Given the description of an element on the screen output the (x, y) to click on. 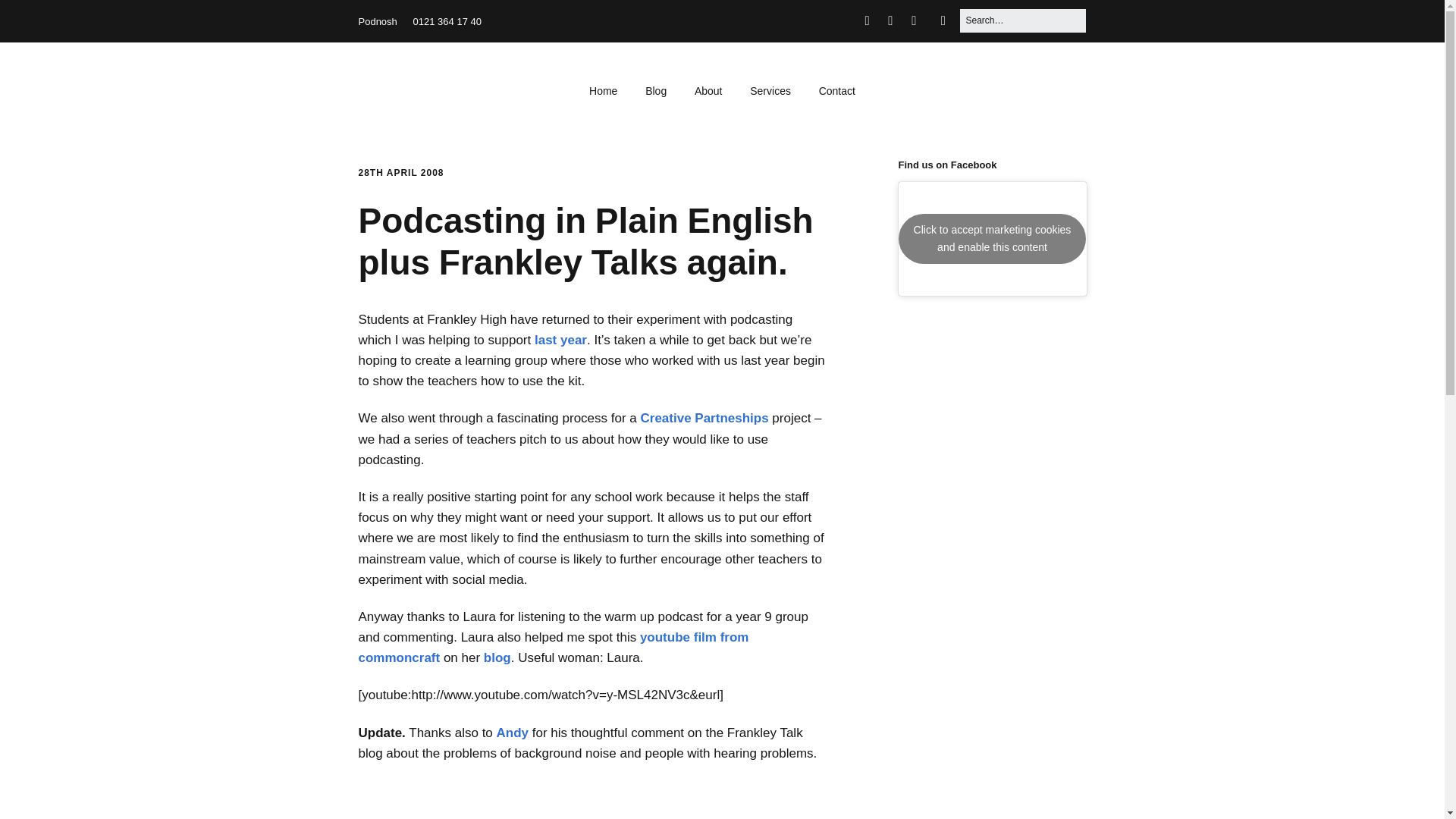
Services (770, 91)
Click to accept marketing cookies and enable this content (992, 238)
film from commoncraft (553, 647)
Blog (655, 91)
Podnosh (377, 21)
0121 364 17 40 (447, 21)
Creative Partneships (704, 418)
Laur's notebook (497, 657)
blog (497, 657)
youtube (665, 636)
Home (602, 91)
Andy (512, 732)
Search (29, 16)
Press Enter to submit your search (1022, 20)
Contact (836, 91)
